Given the description of an element on the screen output the (x, y) to click on. 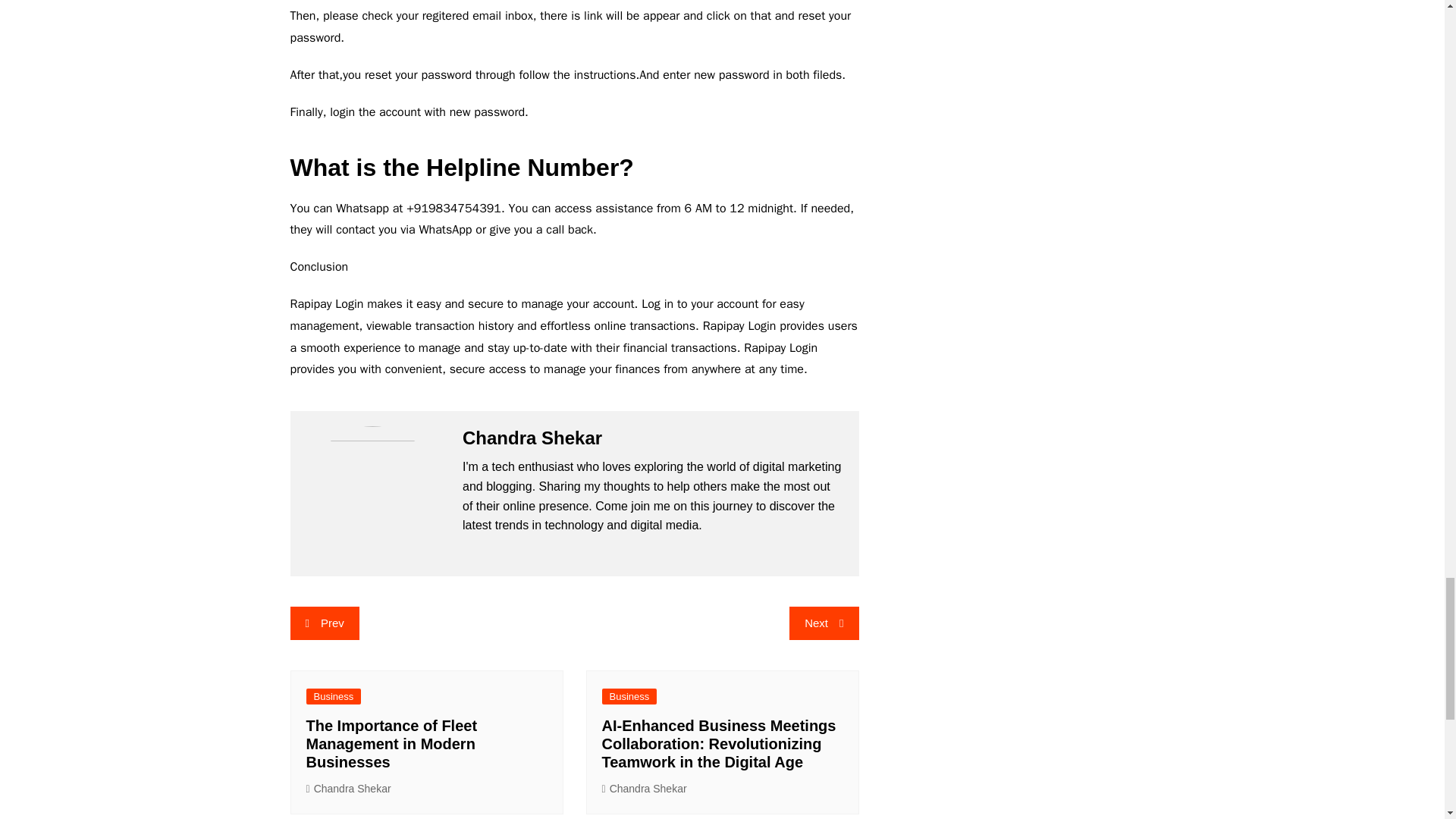
The Importance of Fleet Management in Modern Businesses (391, 743)
Prev (323, 622)
Chandra Shekar (644, 788)
Business (333, 696)
Chandra Shekar (348, 788)
Business (630, 696)
Next (824, 622)
